Given the description of an element on the screen output the (x, y) to click on. 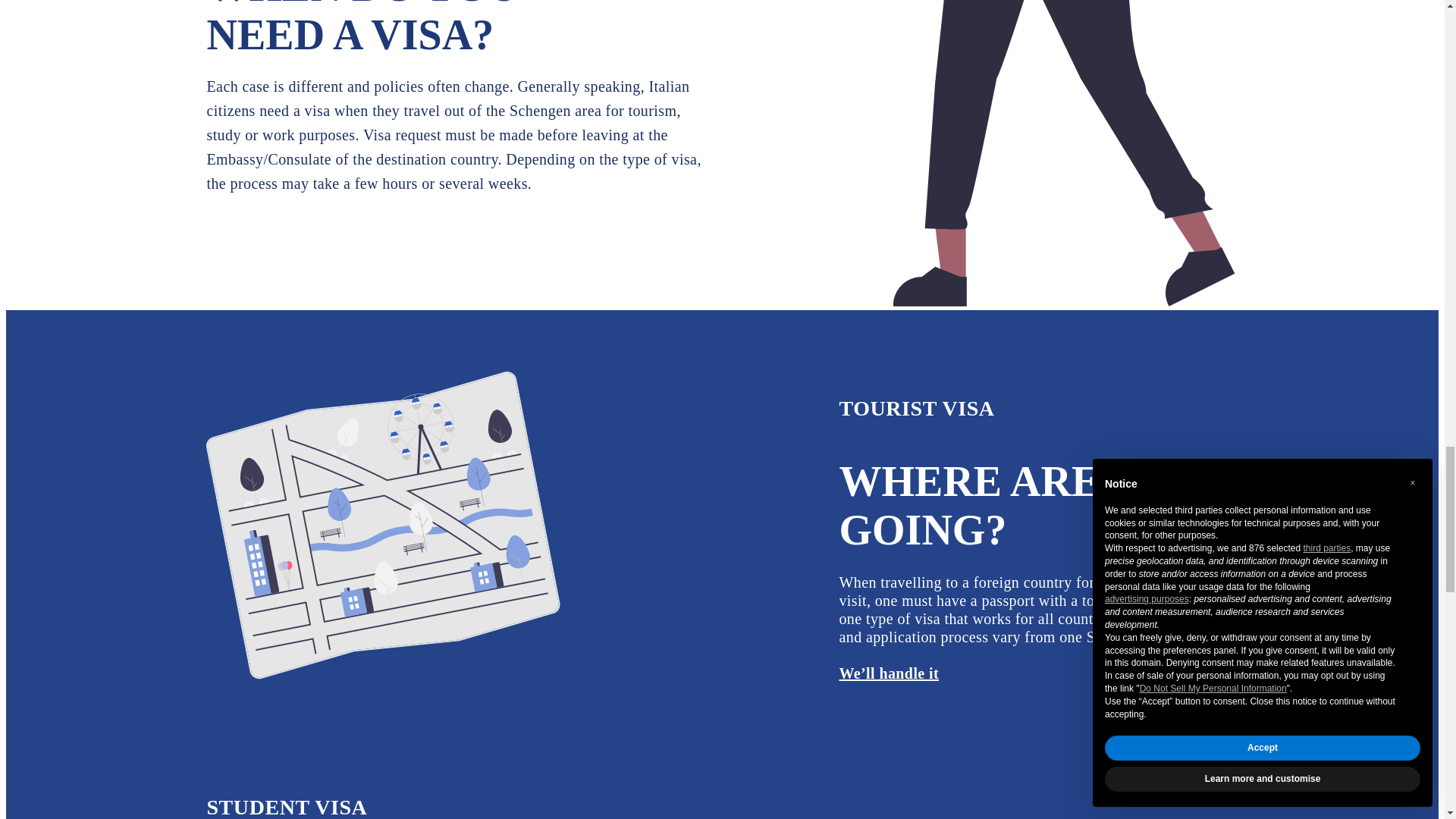
image intro (383, 525)
